Given the description of an element on the screen output the (x, y) to click on. 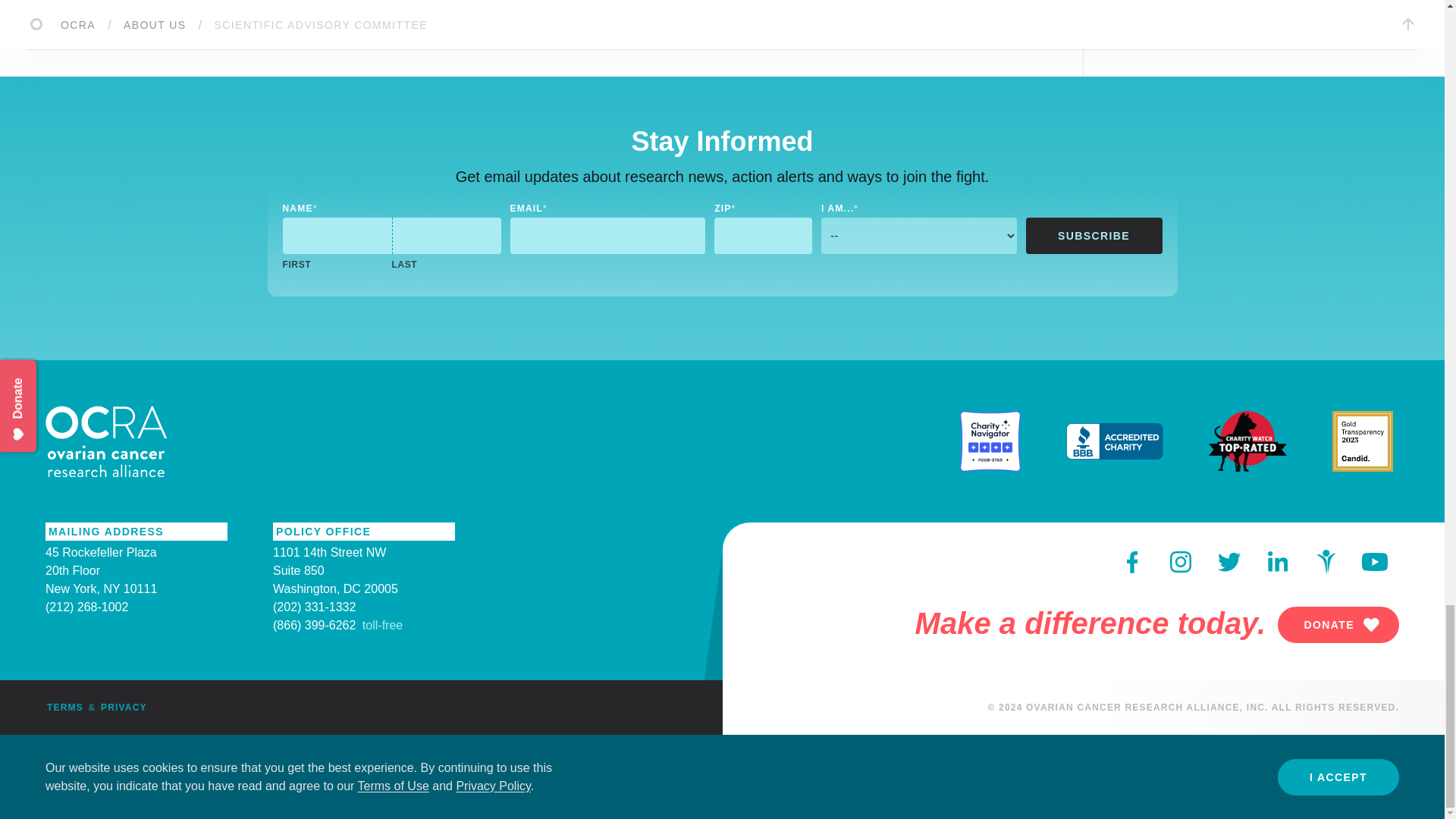
Subscribe (1093, 235)
